Given the description of an element on the screen output the (x, y) to click on. 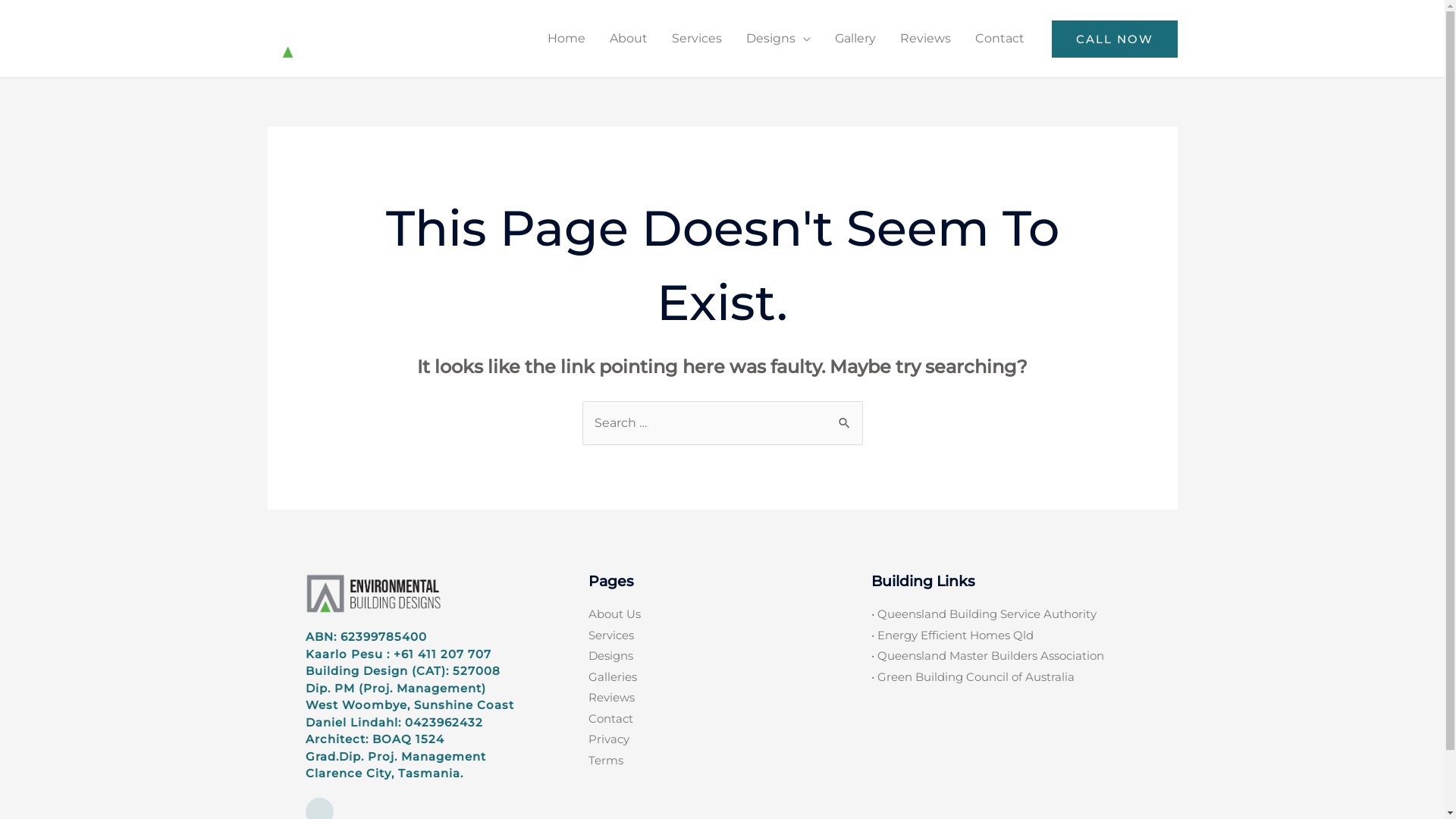
About Us Element type: text (722, 614)
Designs Element type: text (722, 656)
Services Element type: text (696, 38)
Designs Element type: text (778, 38)
Reviews Element type: text (722, 697)
Contact Element type: text (722, 719)
Terms Element type: text (722, 760)
Services Element type: text (722, 635)
Privacy Element type: text (722, 739)
Home Element type: text (566, 38)
Search Element type: text (845, 415)
Reviews Element type: text (924, 38)
Galleries Element type: text (722, 677)
Gallery Element type: text (854, 38)
About Element type: text (628, 38)
Contact Element type: text (999, 38)
CALL NOW Element type: text (1113, 37)
